Given the description of an element on the screen output the (x, y) to click on. 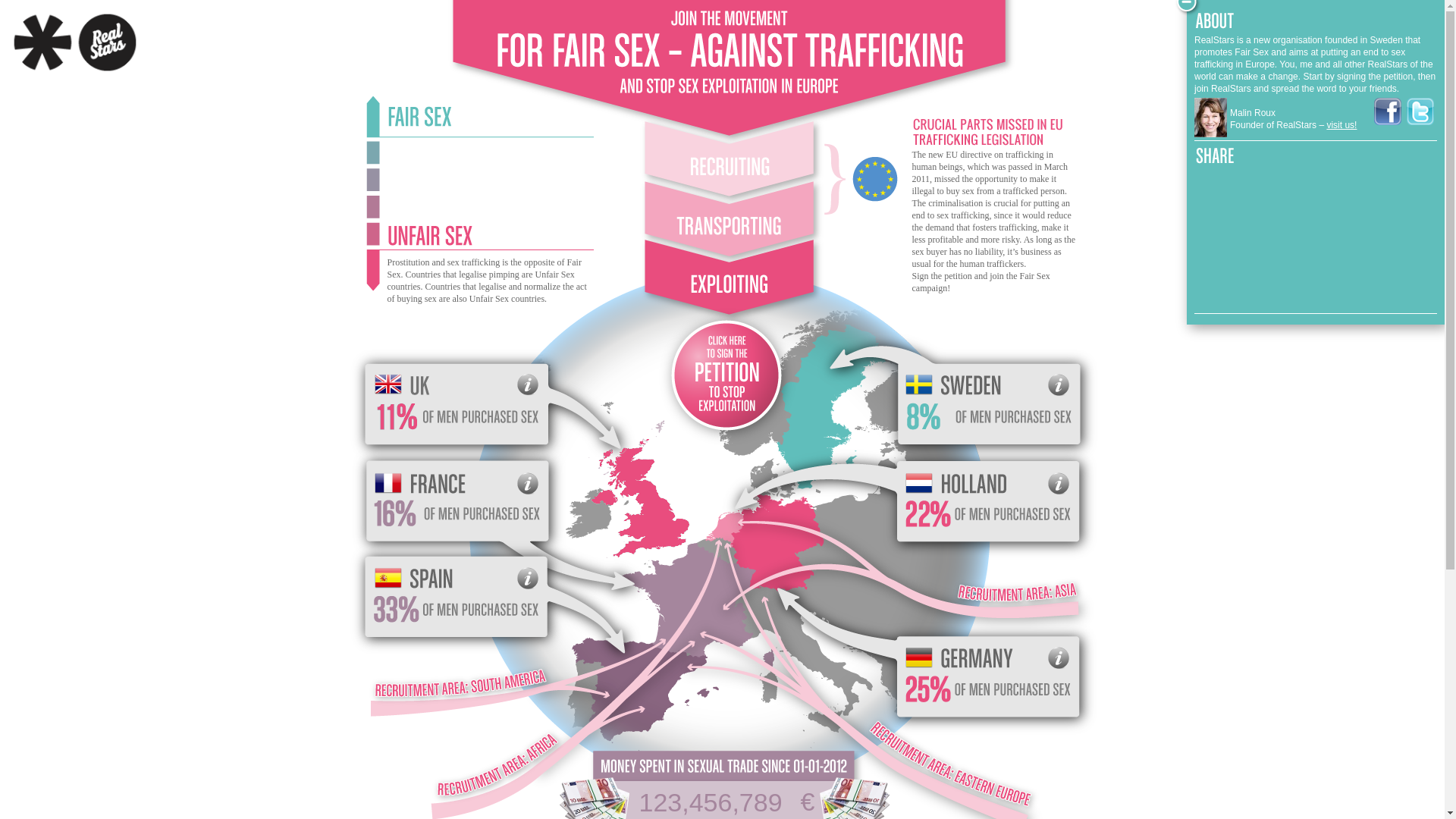
visit us! (1341, 124)
